Given the description of an element on the screen output the (x, y) to click on. 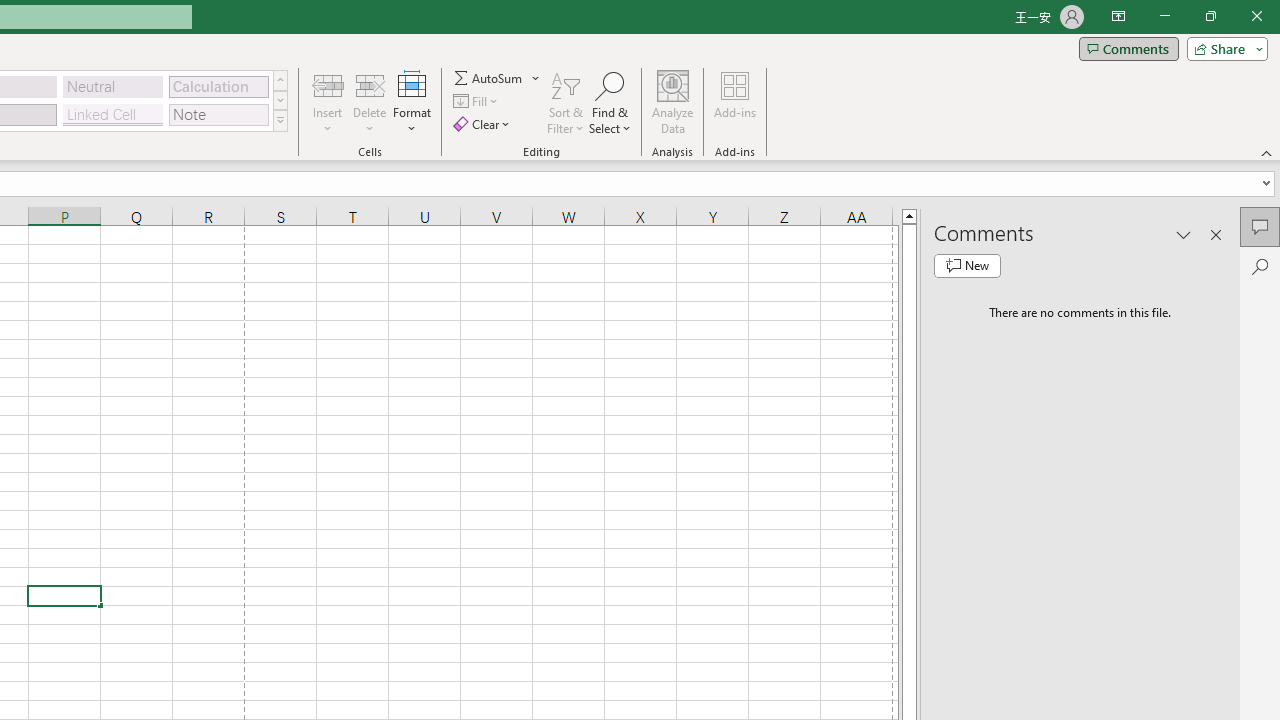
Find & Select (610, 102)
Sum (489, 78)
